Given the description of an element on the screen output the (x, y) to click on. 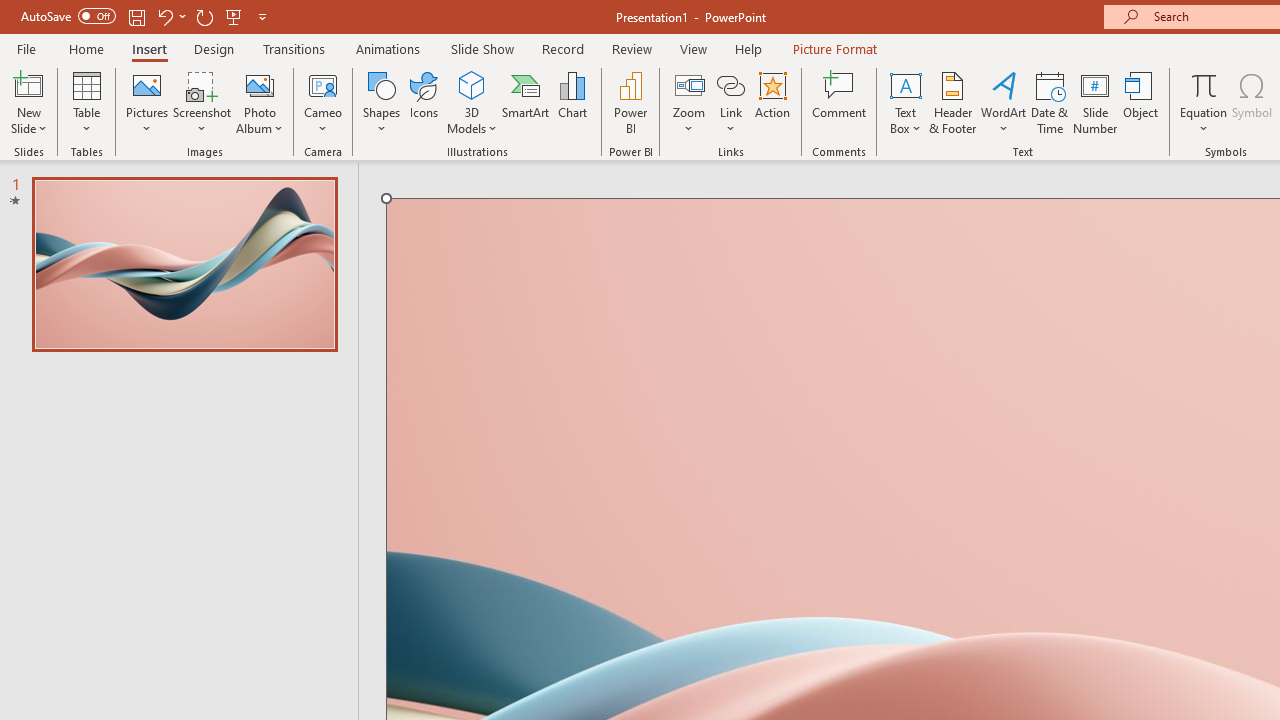
Screenshot (202, 102)
Date & Time... (1050, 102)
Slide Number (1095, 102)
New Photo Album... (259, 84)
Power BI (630, 102)
